Given the description of an element on the screen output the (x, y) to click on. 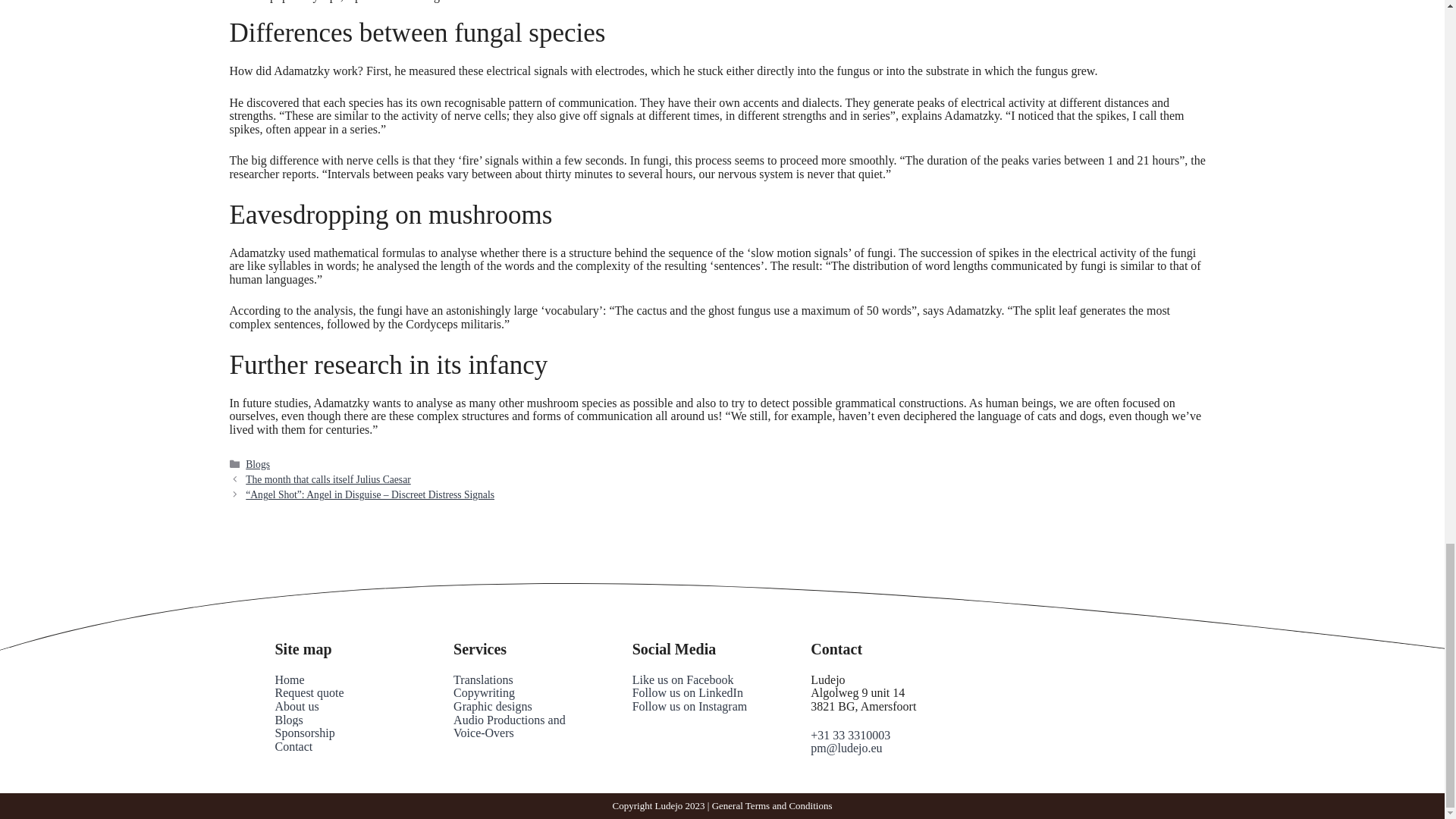
Follow us on LinkedIn (686, 692)
Copywriting (483, 692)
Blogs (257, 464)
About us (296, 706)
Contact (294, 746)
Home (289, 679)
Blogs (288, 719)
Like us on Facebook (682, 679)
Sponsorship (304, 732)
Follow us on Instagram (689, 706)
Request quote (309, 692)
Translations (482, 679)
Graphic designs (492, 706)
Audio Productions and Voice-Overs (509, 726)
The month that calls itself Julius Caesar (328, 479)
